Given the description of an element on the screen output the (x, y) to click on. 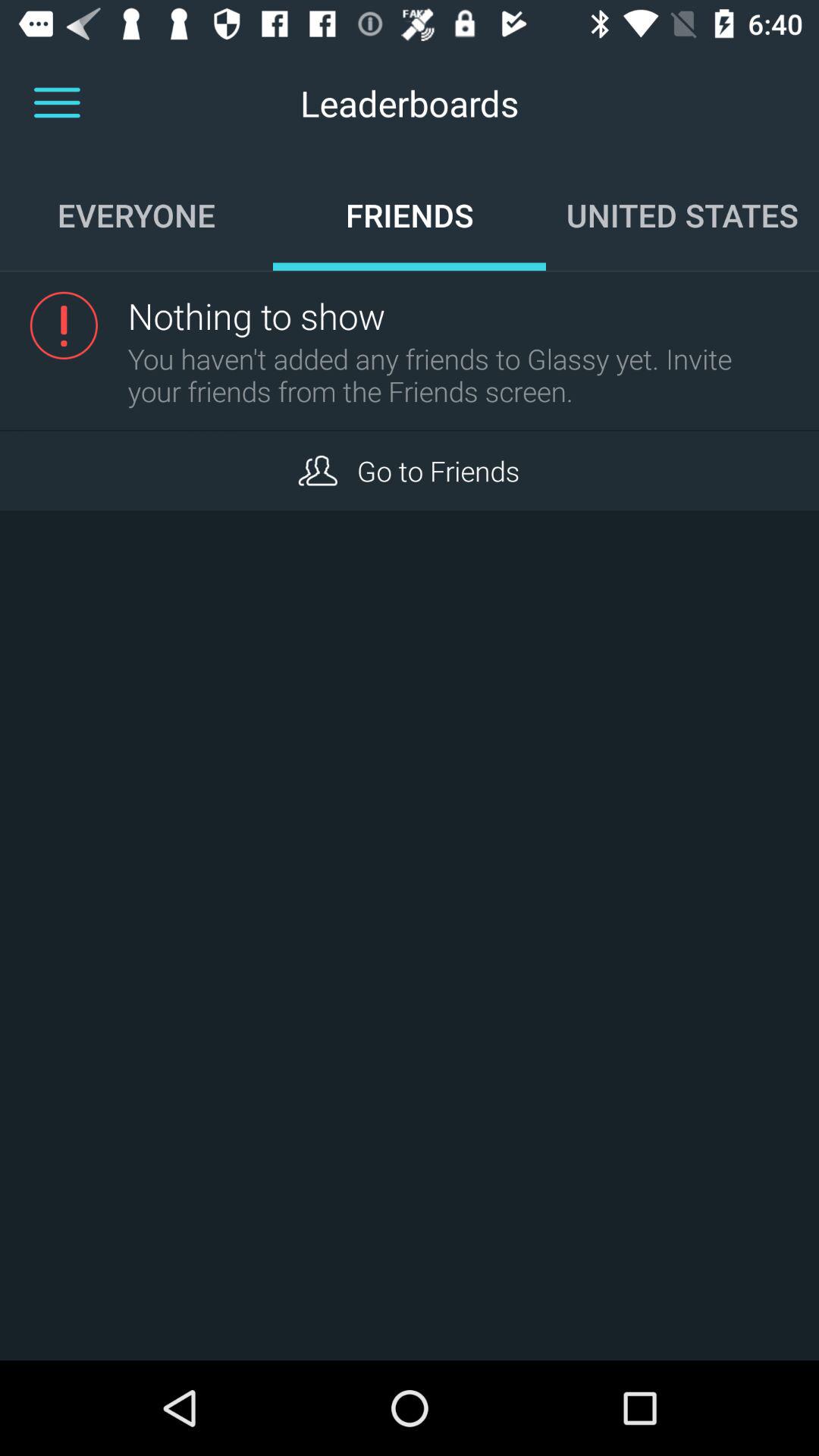
options drop down (57, 103)
